Given the description of an element on the screen output the (x, y) to click on. 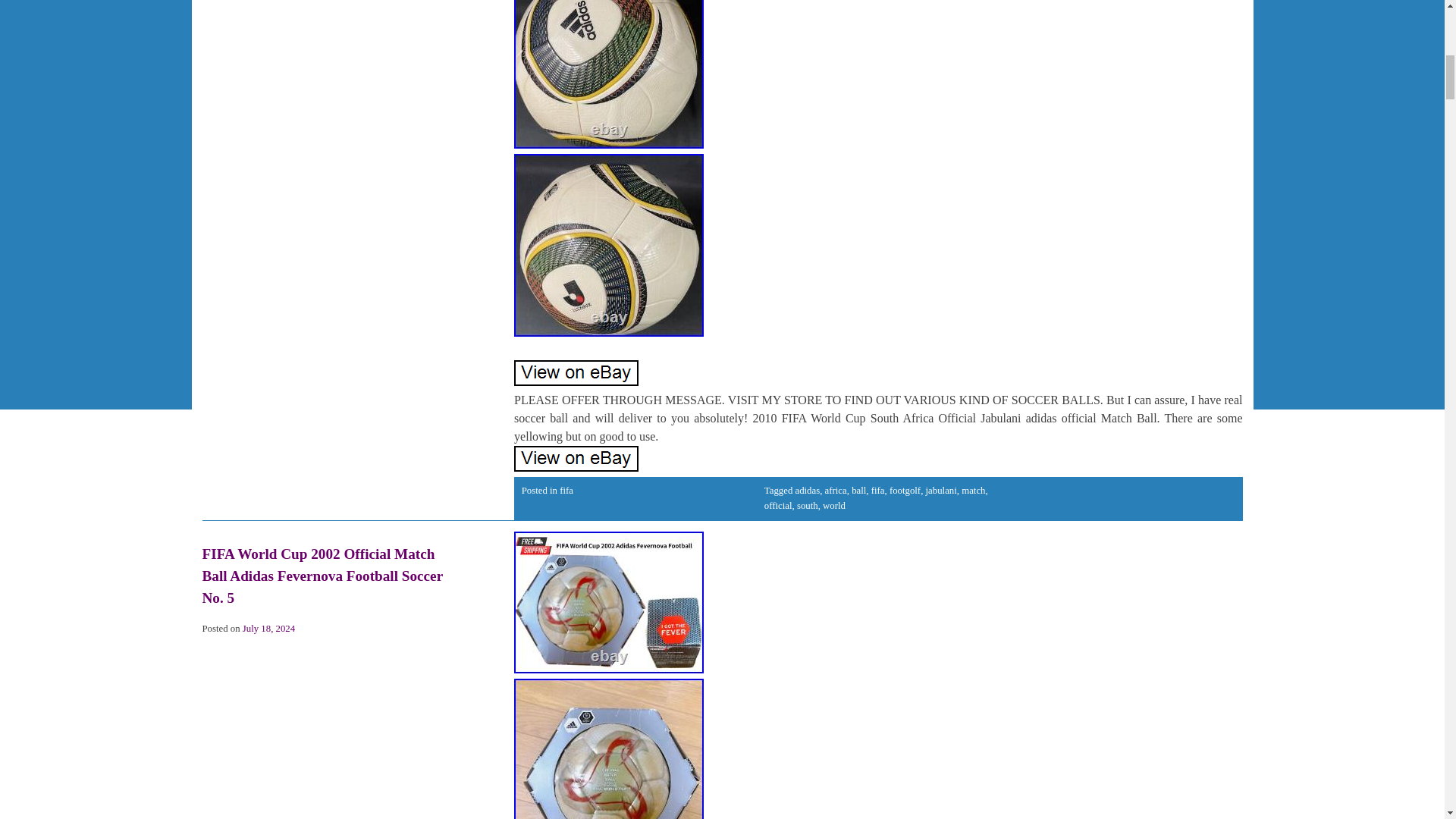
world (833, 505)
ball (858, 490)
fifa (877, 490)
July 18, 2024 (269, 628)
jabulani (941, 490)
africa (836, 490)
